Given the description of an element on the screen output the (x, y) to click on. 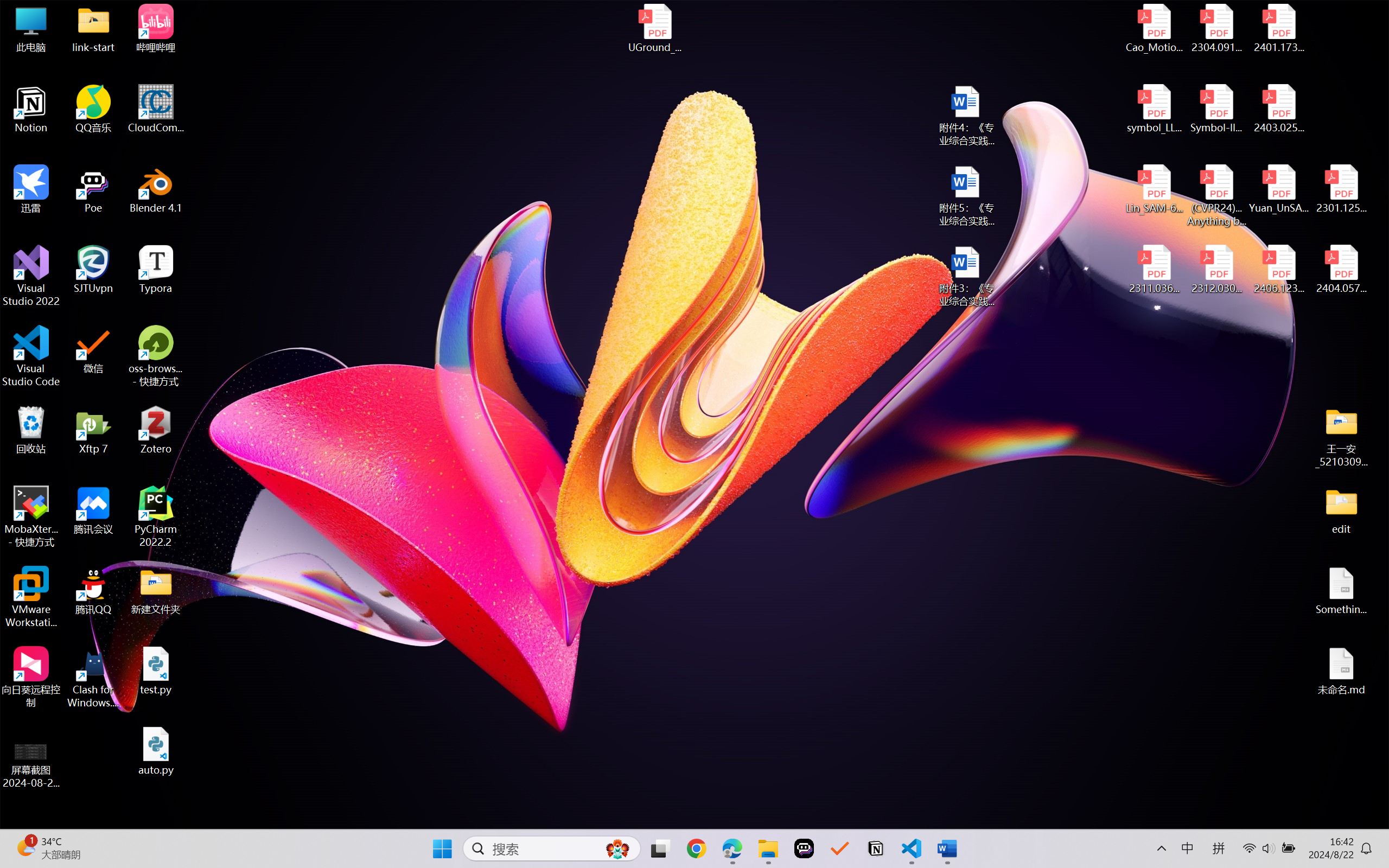
edit (1340, 510)
Visual Studio Code (31, 355)
auto.py (156, 751)
2401.17399v1.pdf (1278, 28)
Typora (156, 269)
test.py (156, 670)
VMware Workstation Pro (31, 597)
PyCharm 2022.2 (156, 516)
